Given the description of an element on the screen output the (x, y) to click on. 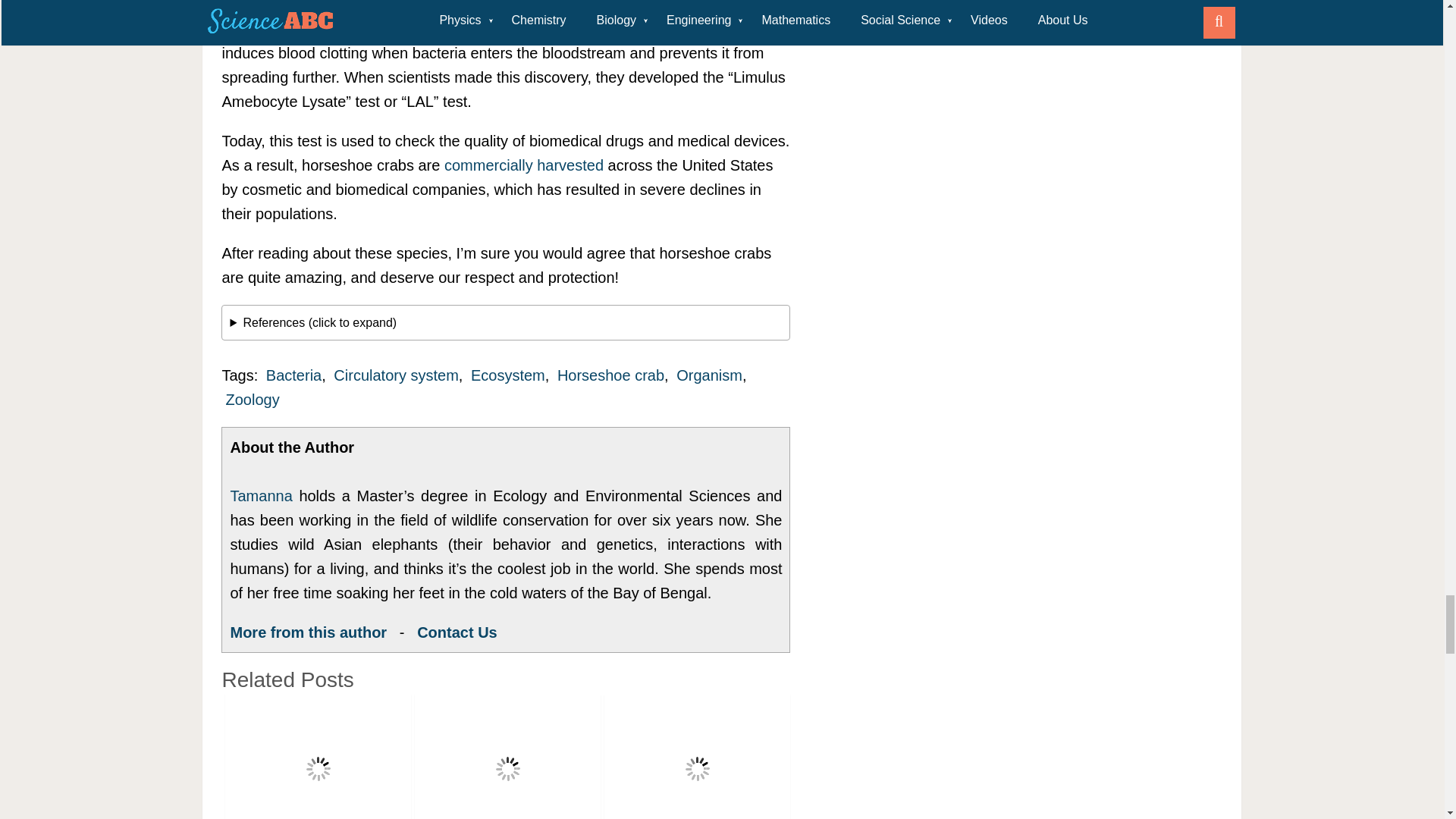
What Is The LAL Test? (317, 756)
How Does A Starfish Move? (506, 756)
